Given the description of an element on the screen output the (x, y) to click on. 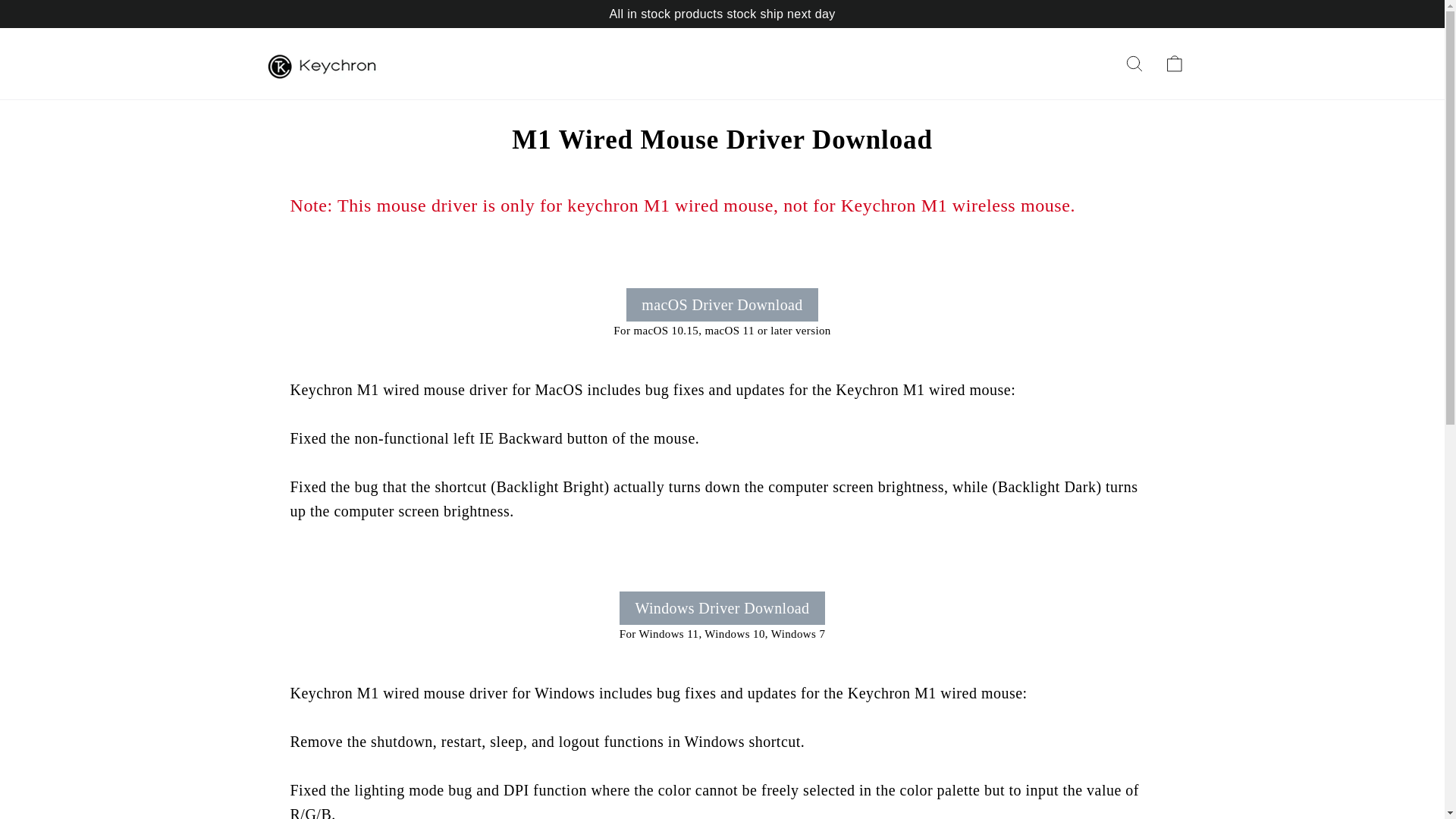
Search (1134, 63)
Cart (1173, 63)
Windows Driver Download (722, 607)
macOS Driver Download (721, 304)
